Given the description of an element on the screen output the (x, y) to click on. 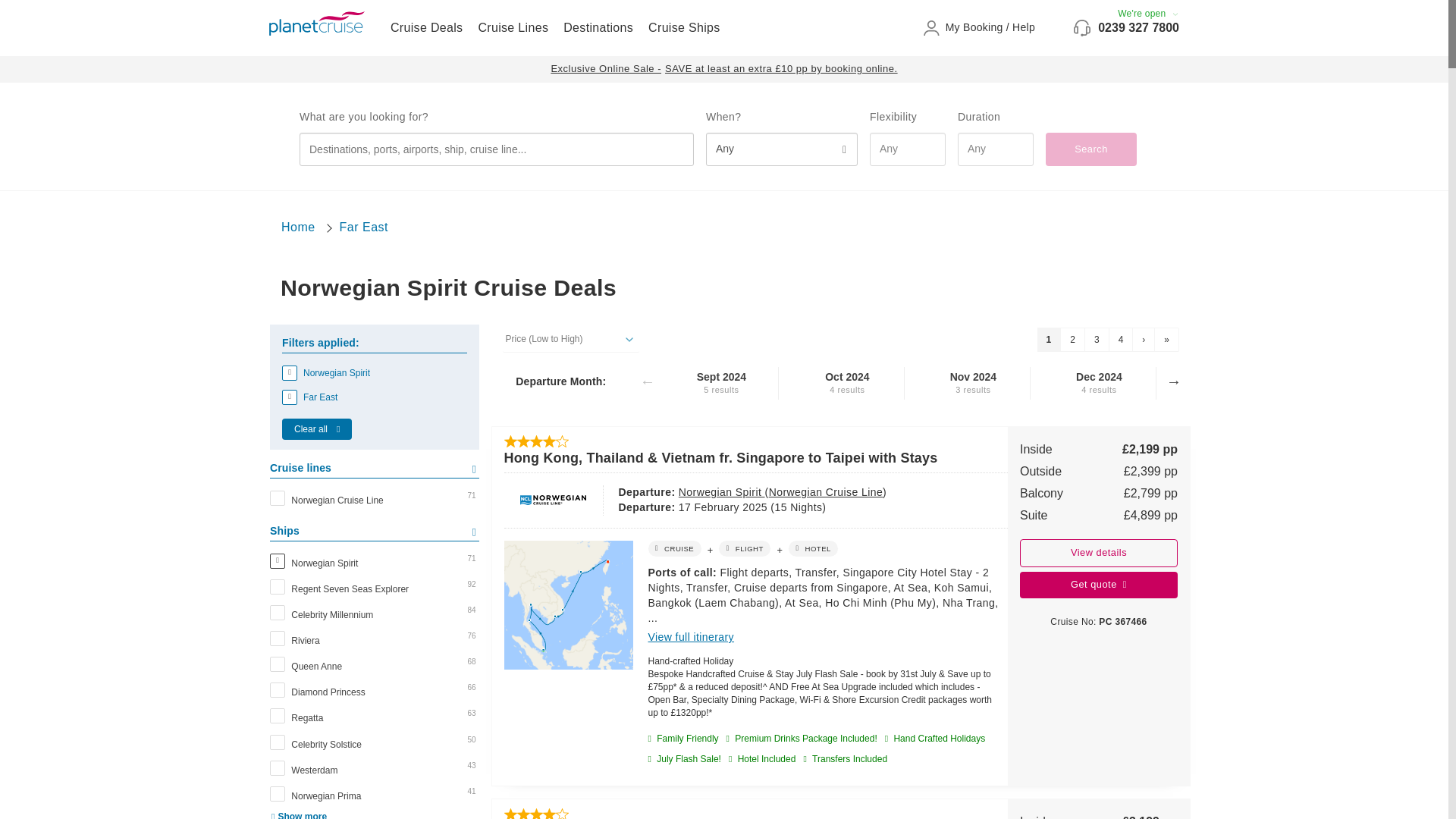
Home (298, 226)
Search (1091, 149)
Cruise Deals (426, 27)
Clear all (317, 428)
Cruise Lines (513, 27)
Home (298, 226)
Cruise Ships (684, 27)
3 (1096, 339)
Norwegian Spirit (374, 372)
Show more (297, 815)
Far East (363, 226)
Far East (374, 396)
1 (1048, 339)
Any (781, 149)
Destinations (598, 27)
